Given the description of an element on the screen output the (x, y) to click on. 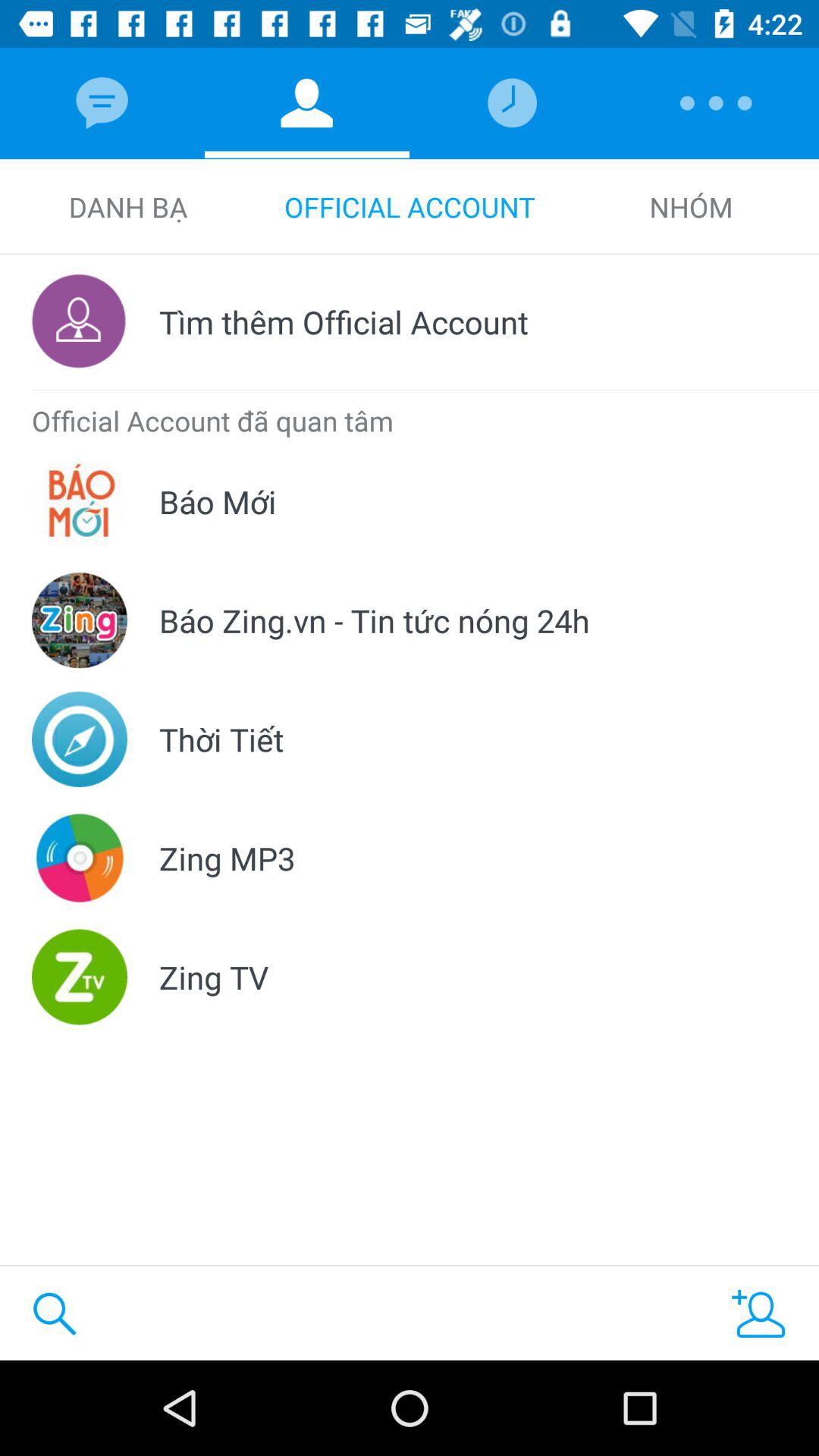
choose icon next to the official account (691, 206)
